Given the description of an element on the screen output the (x, y) to click on. 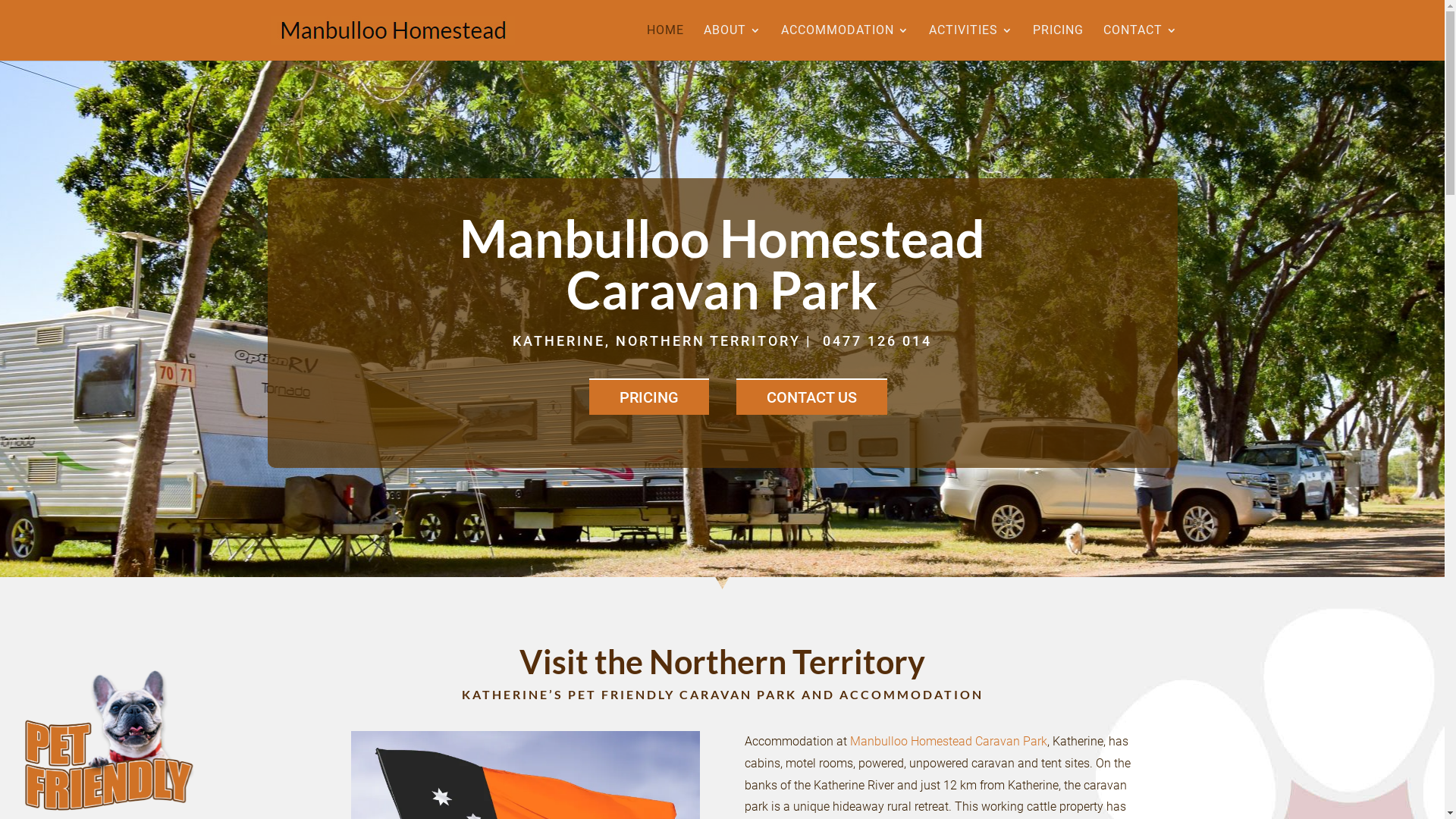
HOME Element type: text (664, 42)
ABOUT Element type: text (732, 42)
CONTACT US Element type: text (810, 396)
Manbulloo Homestead Caravan Park Element type: text (948, 741)
ACTIVITIES Element type: text (970, 42)
PRICING Element type: text (648, 396)
PRICING Element type: text (1057, 42)
CONTACT Element type: text (1139, 42)
ACCOMMODATION Element type: text (845, 42)
